Given the description of an element on the screen output the (x, y) to click on. 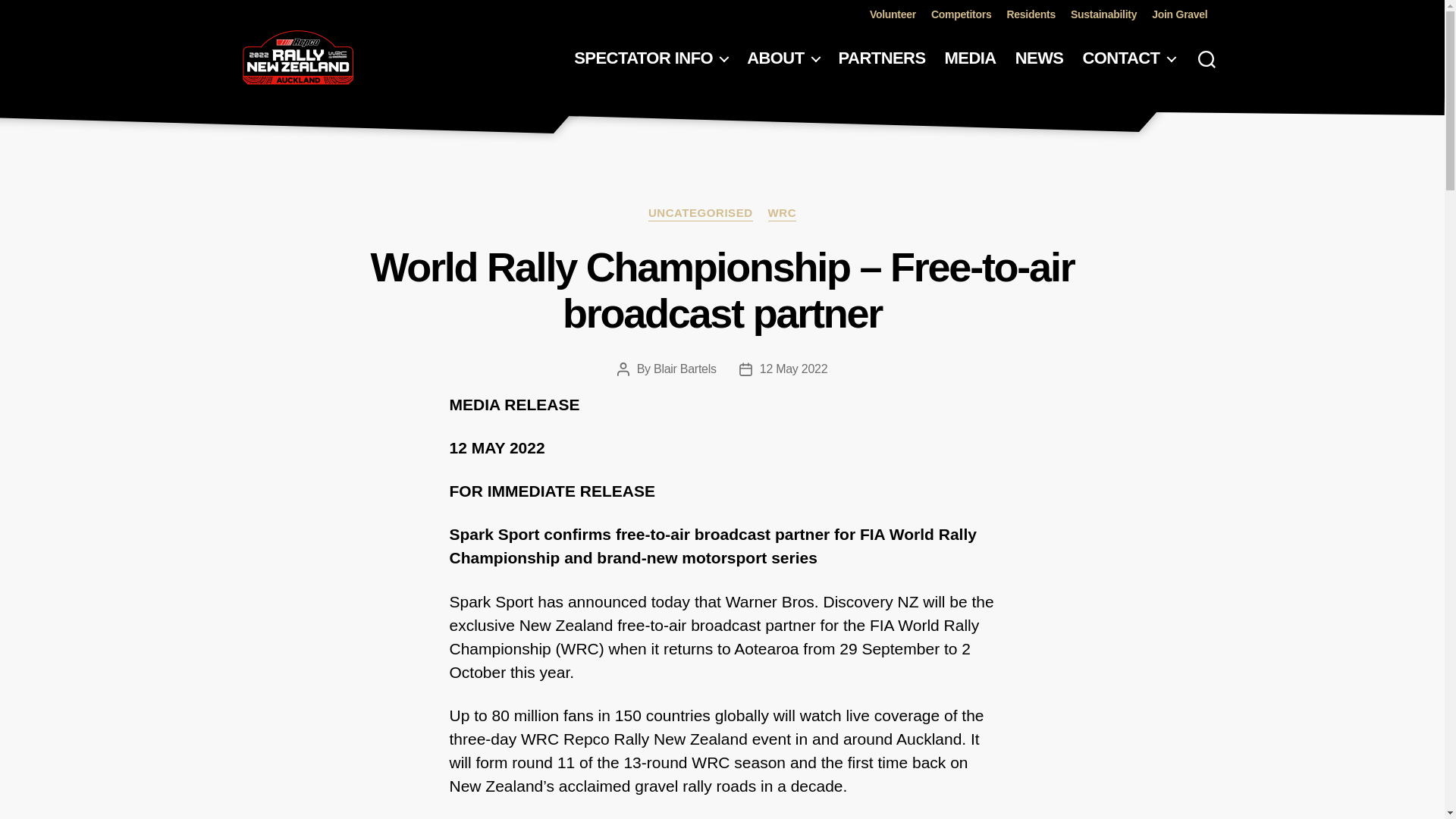
SPECTATOR INFO (650, 57)
Join Gravel (1179, 14)
Residents (1030, 14)
Volunteer (892, 14)
PARTNERS (882, 57)
CONTACT (1127, 57)
MEDIA (969, 57)
ABOUT (782, 57)
Sustainability (1103, 14)
NEWS (1039, 57)
Competitors (961, 14)
